Given the description of an element on the screen output the (x, y) to click on. 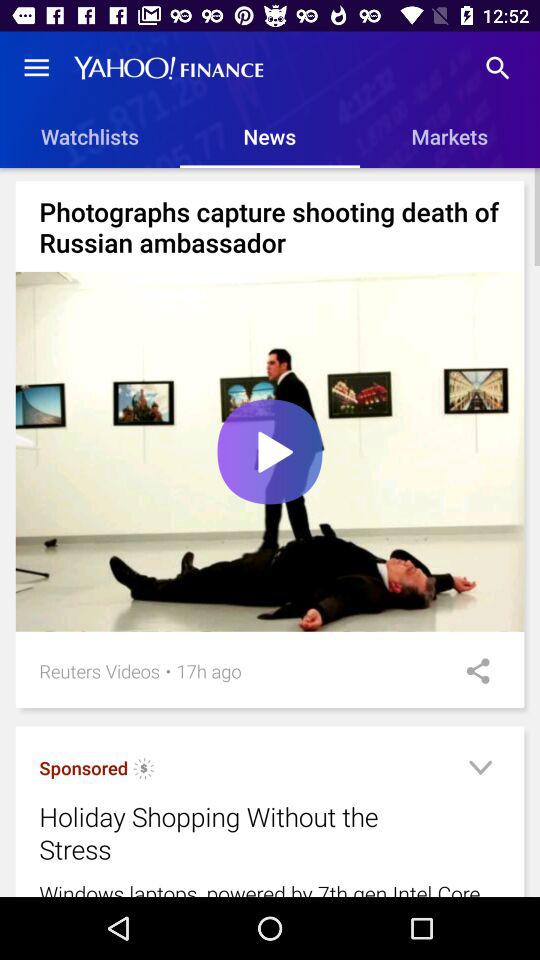
choose the item next to the reuters videos item (168, 670)
